Given the description of an element on the screen output the (x, y) to click on. 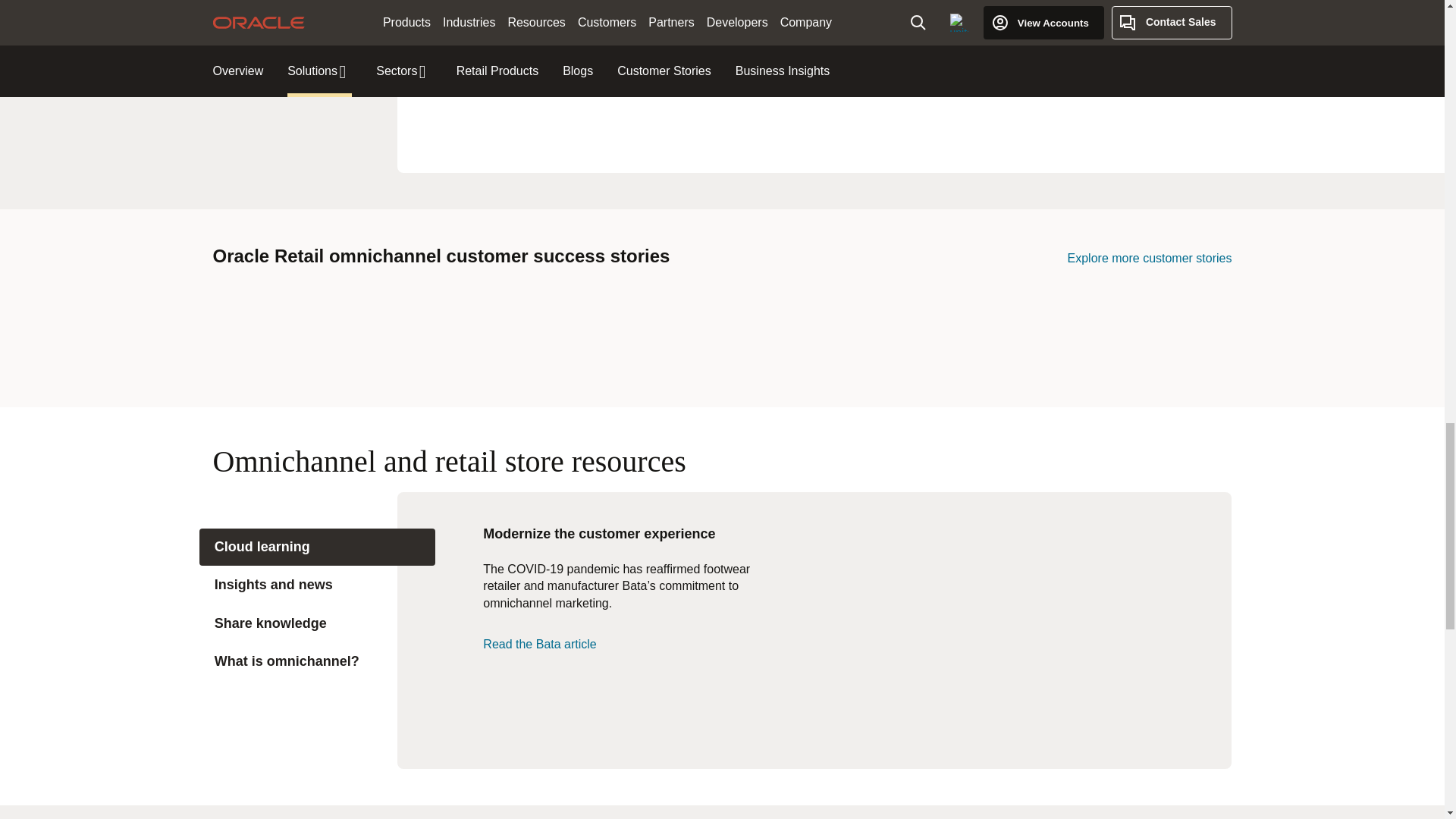
Lilly Pulitzer Accessorizes with Oracle Cloud (594, 332)
Oracle Cloud Elevates the Customer Experience at Prada Group (849, 332)
